Given the description of an element on the screen output the (x, y) to click on. 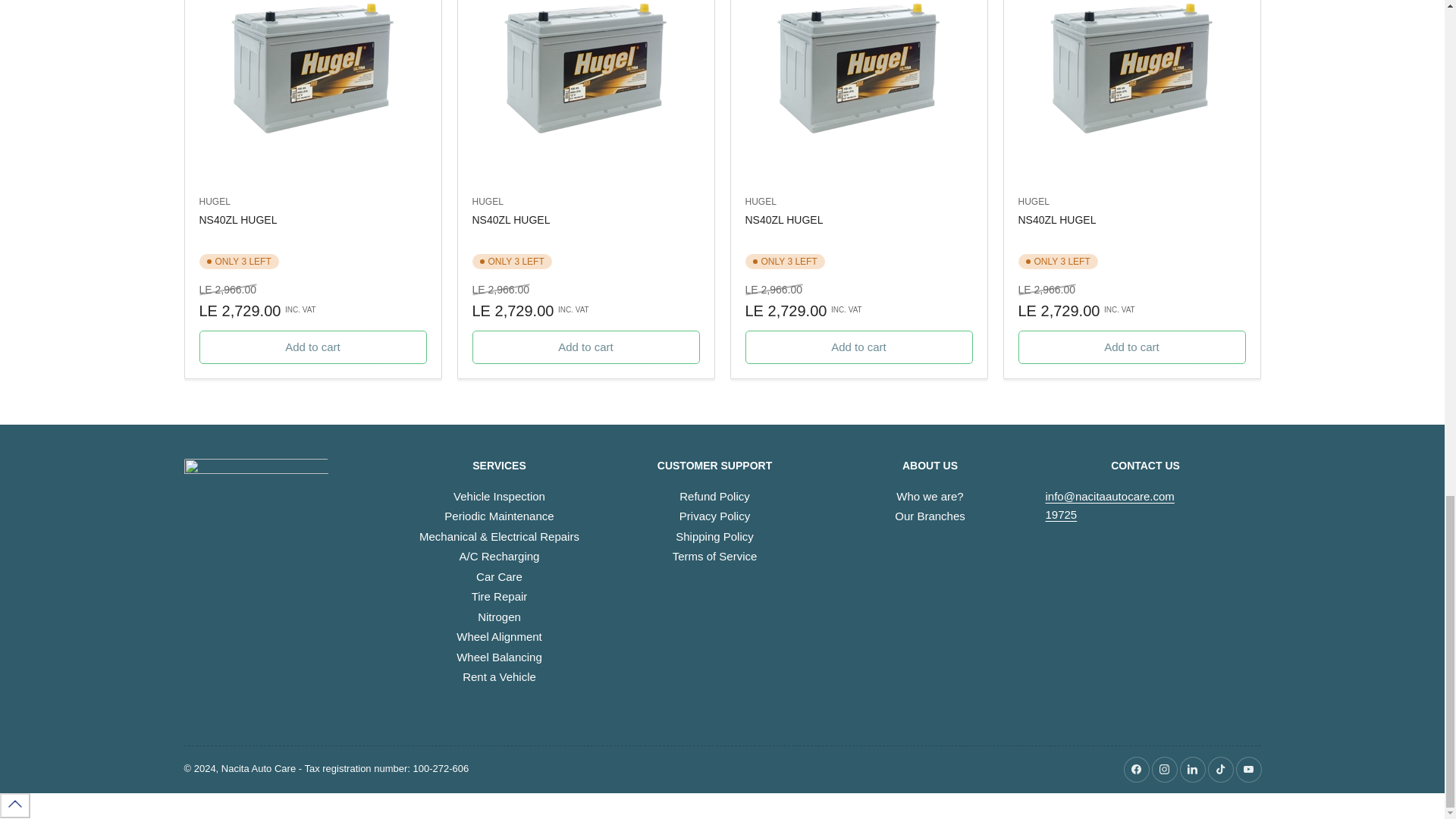
Hugel (214, 201)
Hugel (760, 201)
Hugel (486, 201)
Hugel (1032, 201)
tel:19725 (1061, 513)
